Given the description of an element on the screen output the (x, y) to click on. 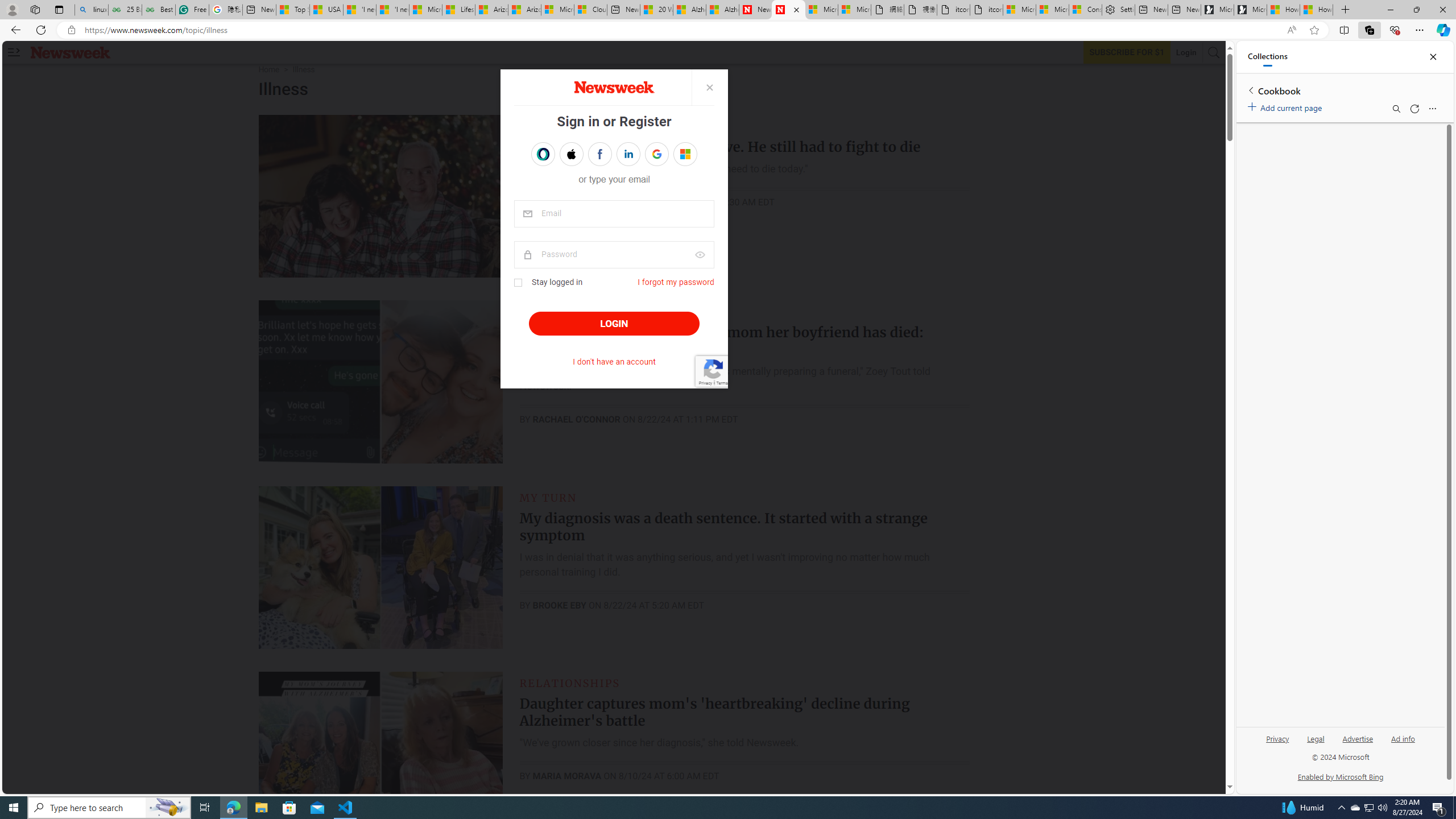
AutomationID: search-btn (1213, 51)
Microsoft Services Agreement (557, 9)
ON THE INTERNET (576, 312)
linux basic - Search (91, 9)
Top Stories - MSN (292, 9)
Microsoft Start (425, 9)
Sign in as Eugene EugeneLedger601@outlook.com (684, 154)
Advertise (1358, 742)
Best SSL Certificates Provider in India - GeeksforGeeks (158, 9)
